Given the description of an element on the screen output the (x, y) to click on. 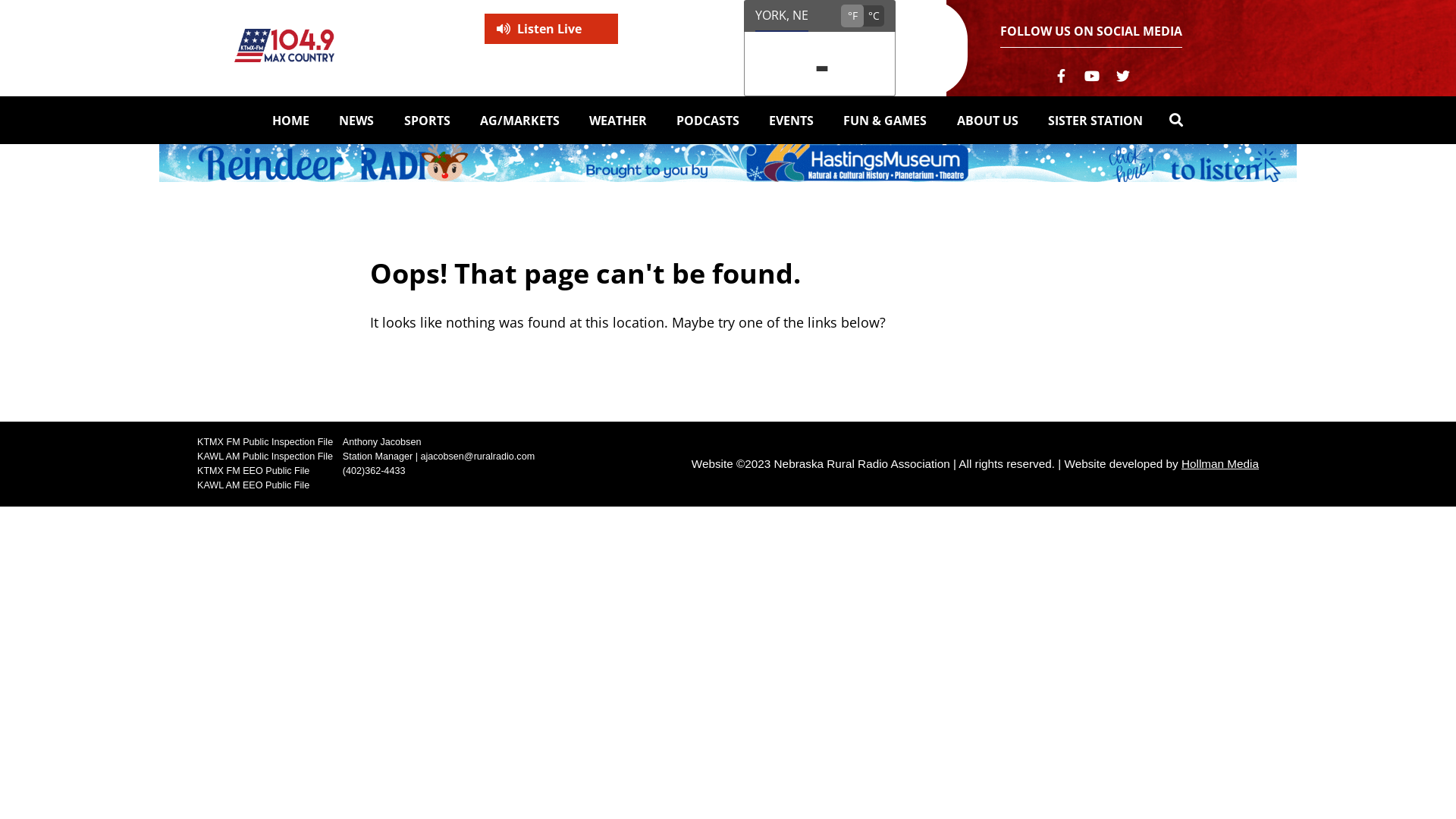
KAWL AM EEO Public File Element type: text (253, 485)
KAWL AM Public Inspection File Element type: text (264, 456)
WEATHER Element type: text (617, 120)
ajacobsen@ruralradio.com Element type: text (477, 456)
EVENTS Element type: text (790, 120)
ABOUT US Element type: text (987, 120)
SPORTS Element type: text (426, 120)
SISTER STATION Element type: text (1094, 120)
AG/MARKETS Element type: text (519, 120)
KTMX FM Public Inspection File Element type: text (264, 441)
FUN & GAMES Element type: text (884, 120)
NEWS Element type: text (355, 120)
PODCASTS Element type: text (707, 120)
HOME Element type: text (290, 120)
KTMX FM EEO Public File Element type: text (253, 470)
Hollman Media Element type: text (1219, 463)
